Given the description of an element on the screen output the (x, y) to click on. 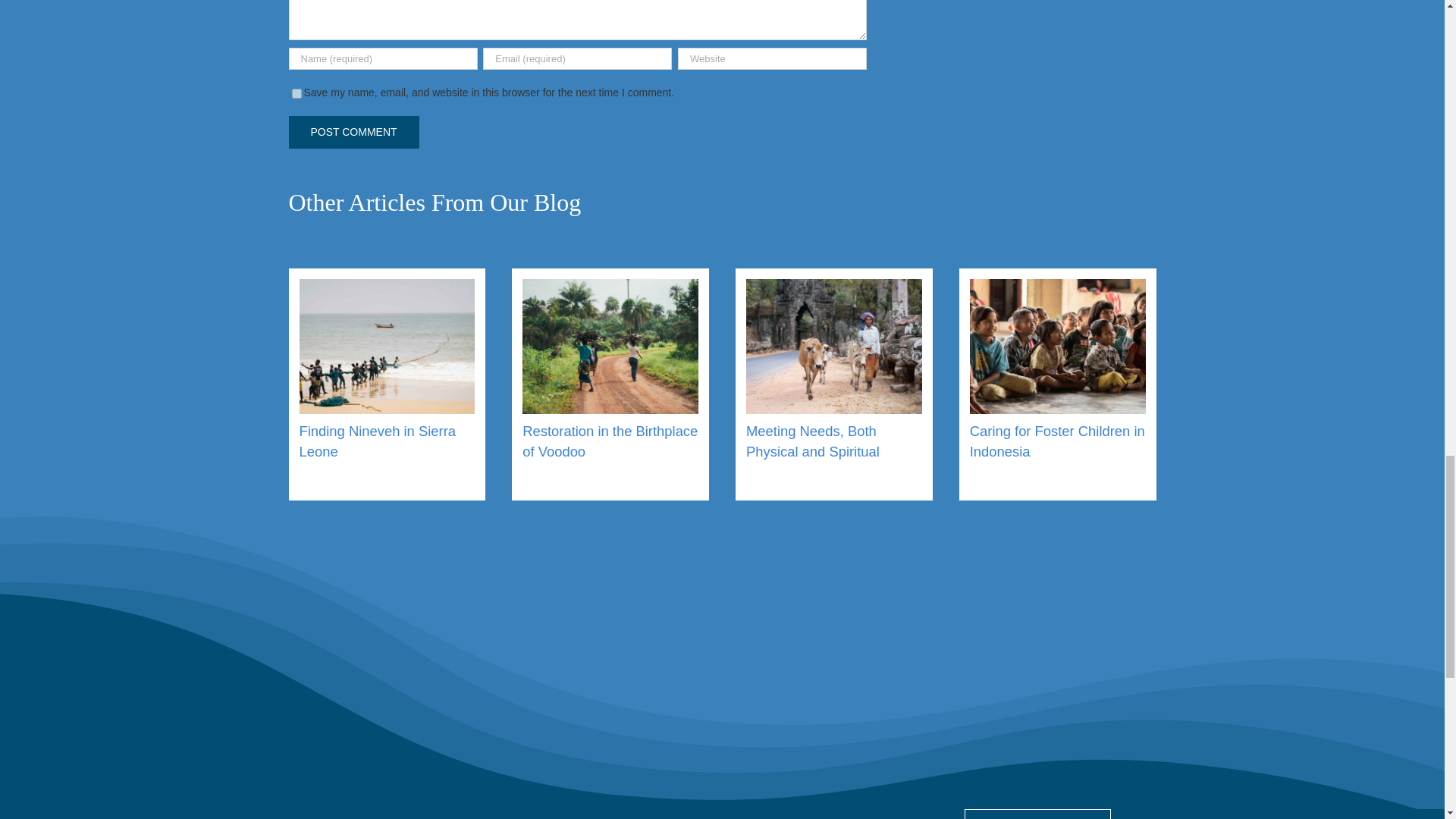
Post Comment (353, 132)
yes (296, 93)
